Given the description of an element on the screen output the (x, y) to click on. 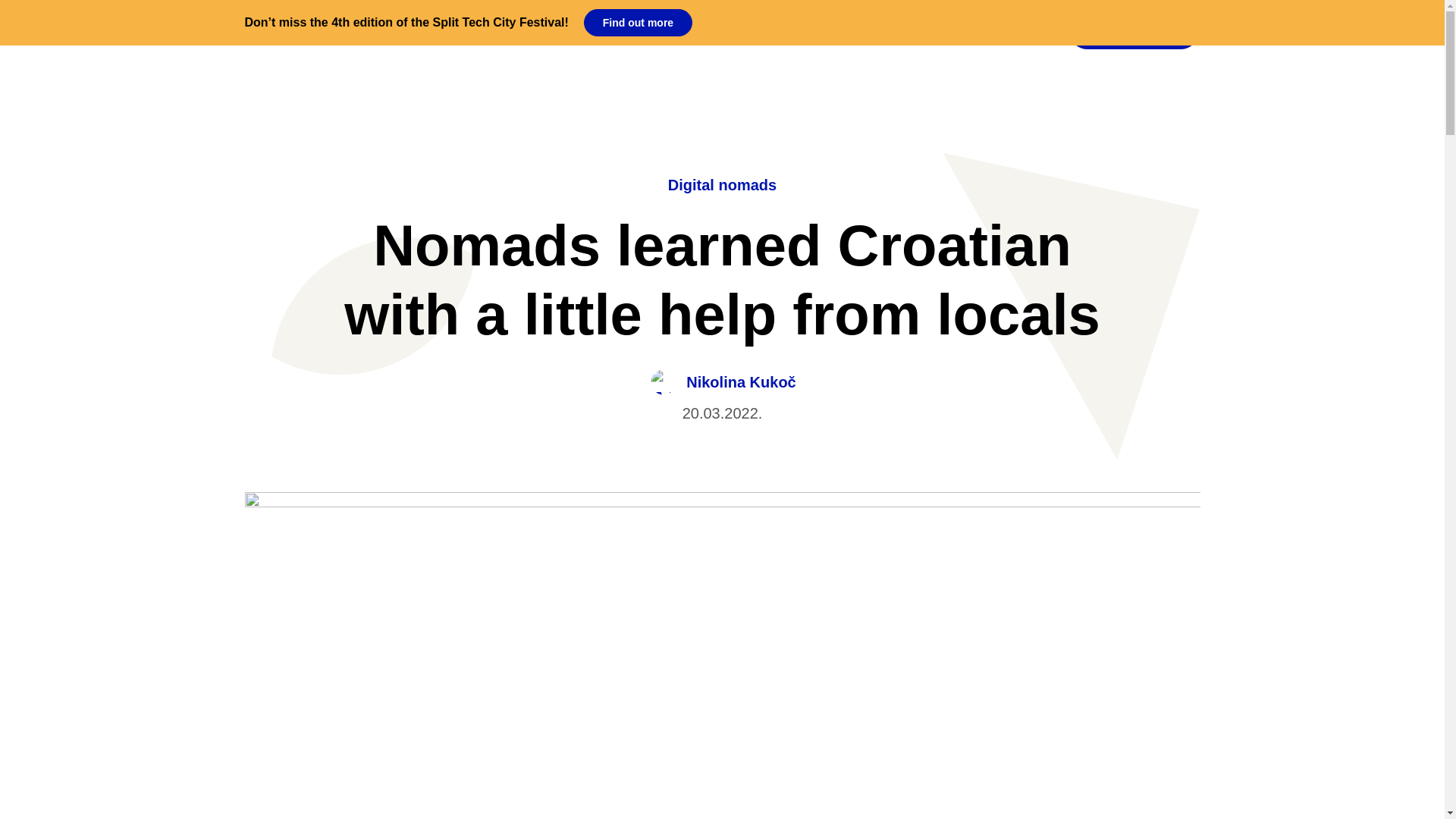
Festival (817, 30)
Find out more (638, 22)
Support us (1133, 30)
Community (596, 30)
News (514, 30)
Croatian (1012, 30)
Jobs (747, 30)
Events (682, 30)
